Given the description of an element on the screen output the (x, y) to click on. 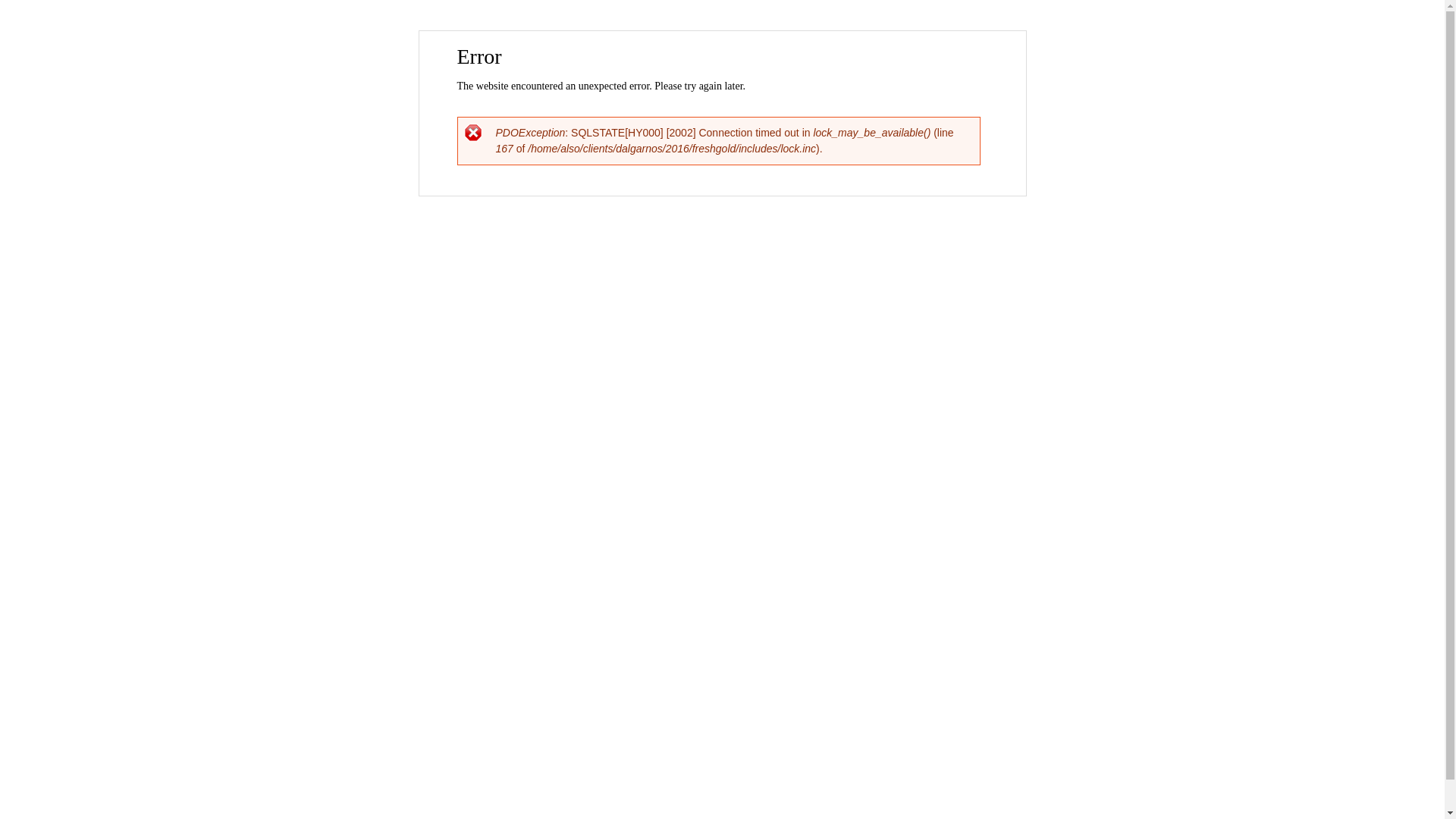
Skip to main content Element type: text (690, 31)
